Given the description of an element on the screen output the (x, y) to click on. 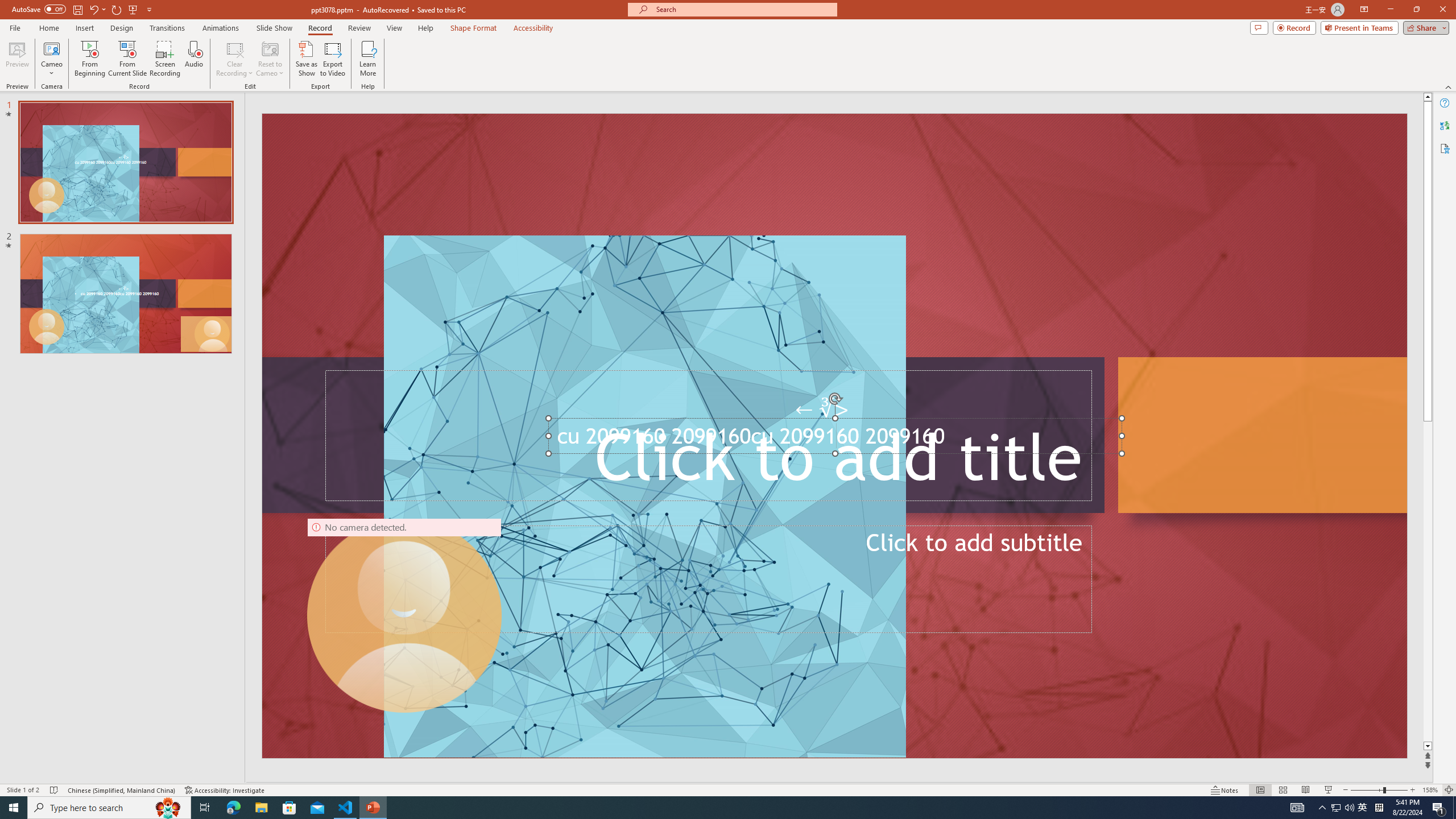
TextBox 7 (822, 409)
Camera 9, No camera detected. (404, 615)
Zoom 158% (1430, 790)
